Given the description of an element on the screen output the (x, y) to click on. 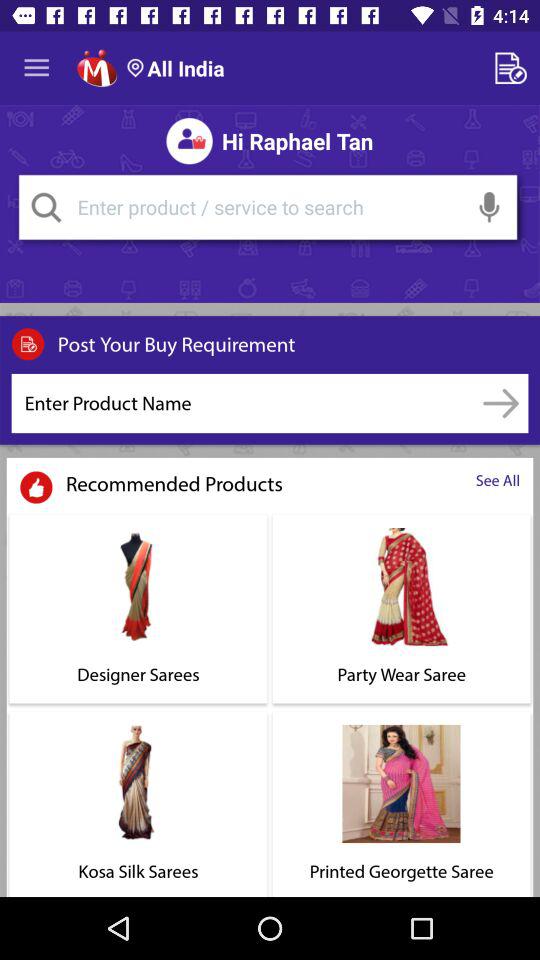
next (500, 403)
